Given the description of an element on the screen output the (x, y) to click on. 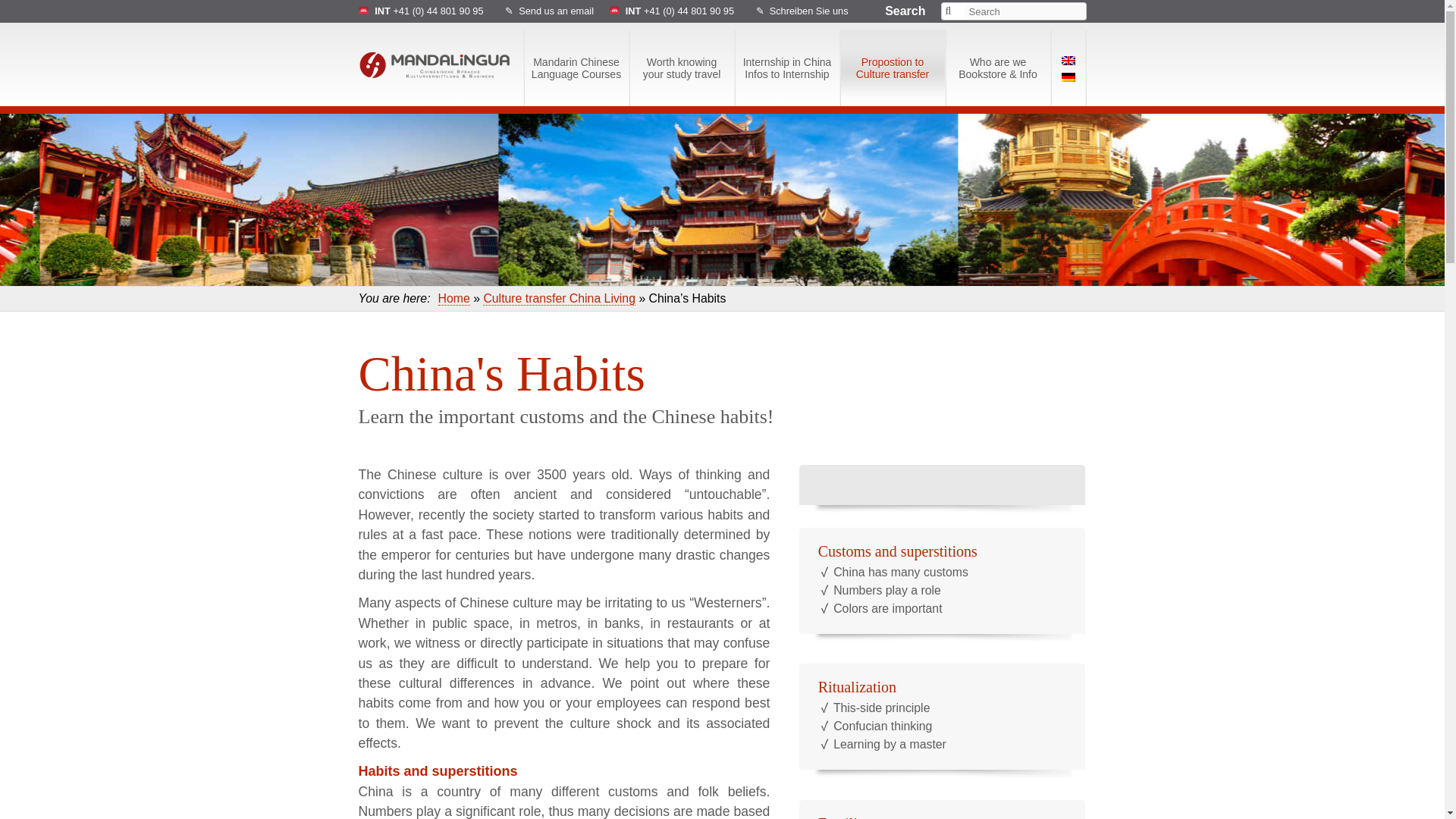
Skip to content (401, 38)
Schreiben Sie uns (809, 10)
Search (952, 11)
Send us an email (680, 68)
Mandarin Chinese Language Courses (556, 10)
Skip to content (576, 68)
